Given the description of an element on the screen output the (x, y) to click on. 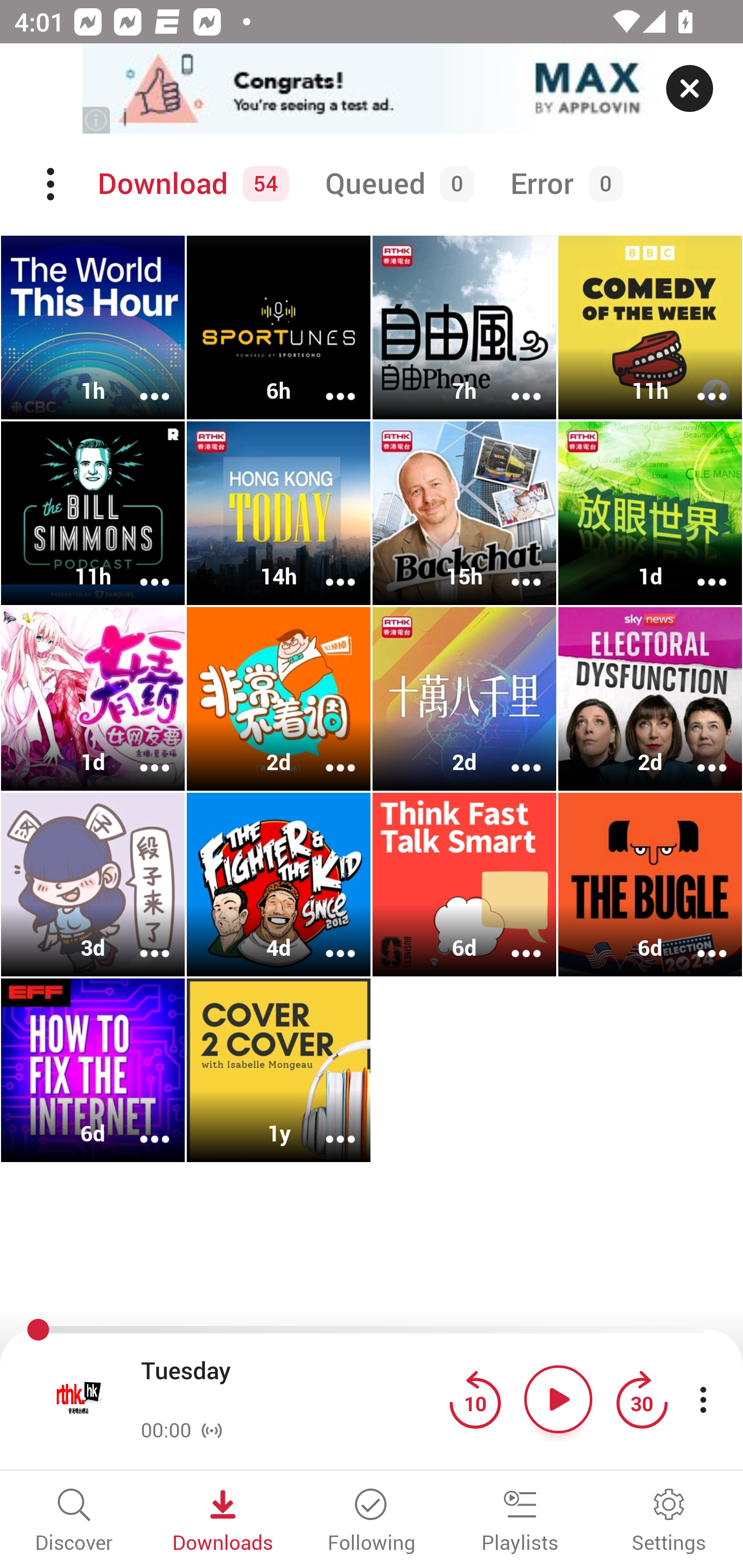
app-monetization (371, 88)
(i) (96, 119)
Menu (52, 184)
 Download 54 (189, 184)
 Queued 0 (396, 184)
 Error 0 (562, 184)
The World This Hour 1h More options More options (92, 327)
Sportunes HK 6h More options More options (278, 327)
自由风自由PHONE 7h More options More options (464, 327)
Comedy of the Week 11h More options More options (650, 327)
More options (141, 382)
More options (326, 382)
More options (512, 382)
More options (698, 382)
Hong Kong Today 14h More options More options (278, 513)
Backchat 15h More options More options (464, 513)
放眼世界 1d More options More options (650, 513)
More options (141, 569)
More options (326, 569)
More options (512, 569)
More options (698, 569)
女王有药丨爆笑脱口秀 1d More options More options (92, 698)
非常不着调 2d More options More options (278, 698)
十萬八千里 2d More options More options (464, 698)
Electoral Dysfunction 2d More options More options (650, 698)
More options (141, 754)
More options (326, 754)
More options (512, 754)
More options (698, 754)
段子来了 3d More options More options (92, 883)
The Fighter & The Kid 4d More options More options (278, 883)
The Bugle 6d More options More options (650, 883)
More options (141, 940)
More options (326, 940)
More options (512, 940)
More options (698, 940)
Cover 2 Cover 1y More options More options (278, 1069)
More options (141, 1125)
More options (326, 1125)
Open fullscreen player (79, 1399)
More player controls (703, 1399)
Tuesday (290, 1385)
Play button (558, 1398)
Jump back (475, 1399)
Jump forward (641, 1399)
Discover (74, 1521)
Downloads (222, 1521)
Following (371, 1521)
Playlists (519, 1521)
Settings (668, 1521)
